Given the description of an element on the screen output the (x, y) to click on. 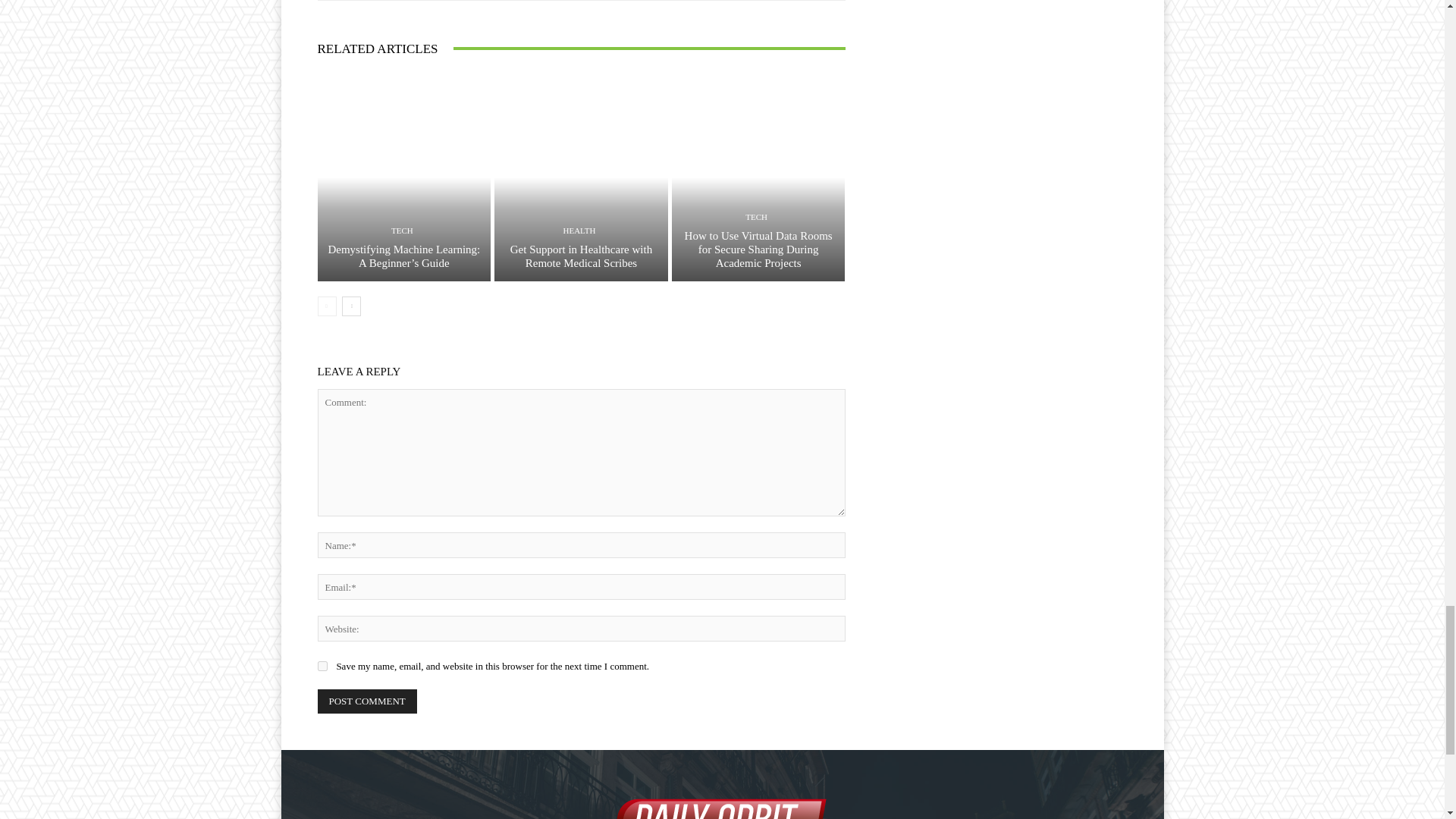
yes (321, 665)
Post Comment (366, 701)
